Given the description of an element on the screen output the (x, y) to click on. 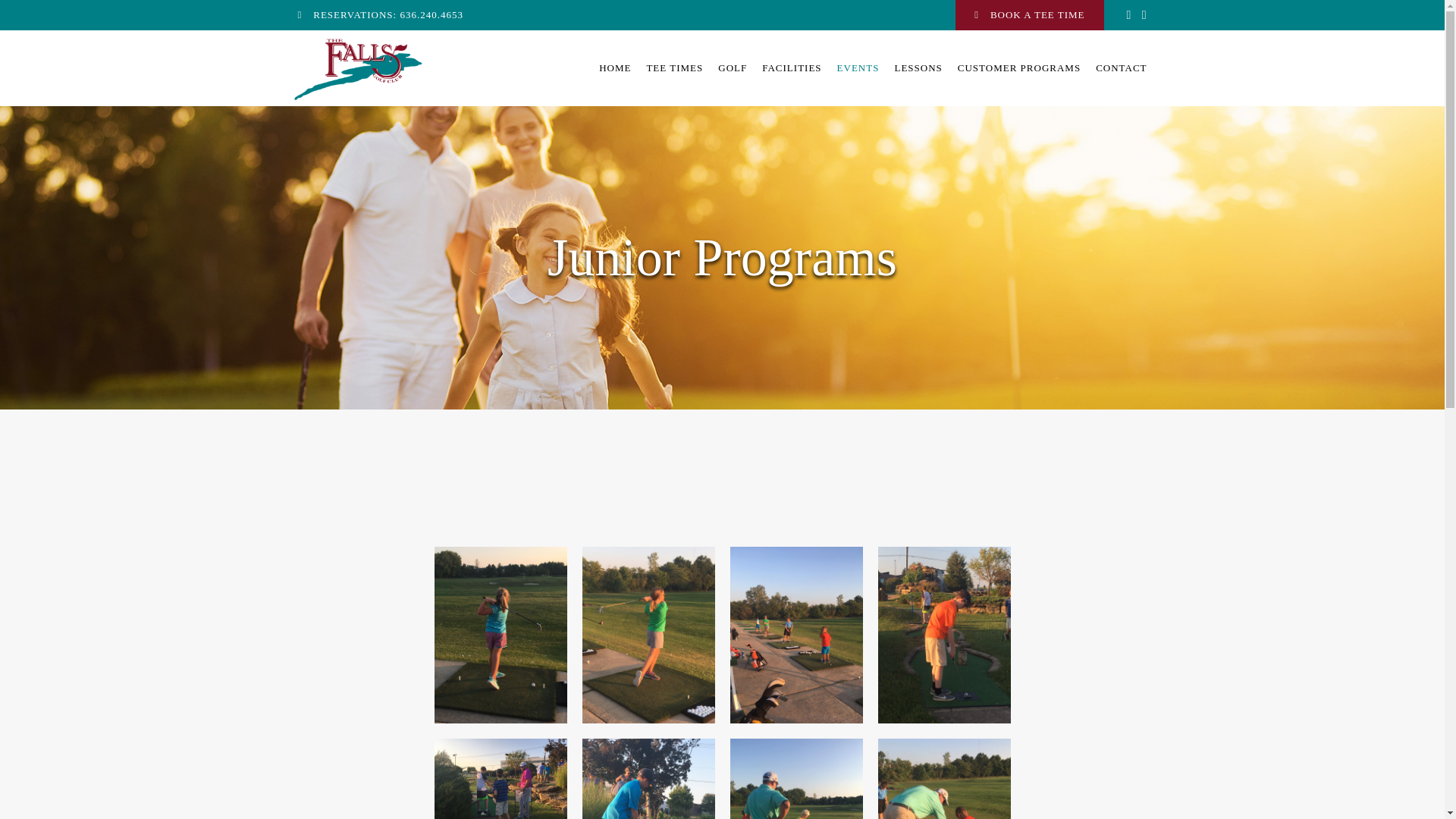
CONTACT (1117, 68)
RESERVATIONS: 636.240.4653 (380, 15)
HOME (615, 68)
BOOK A TEE TIME (1029, 15)
EVENTS (857, 68)
GOLF (732, 68)
TEE TIMES (674, 68)
FACILITIES (791, 68)
CUSTOMER PROGRAMS (1018, 68)
LESSONS (917, 68)
